Given the description of an element on the screen output the (x, y) to click on. 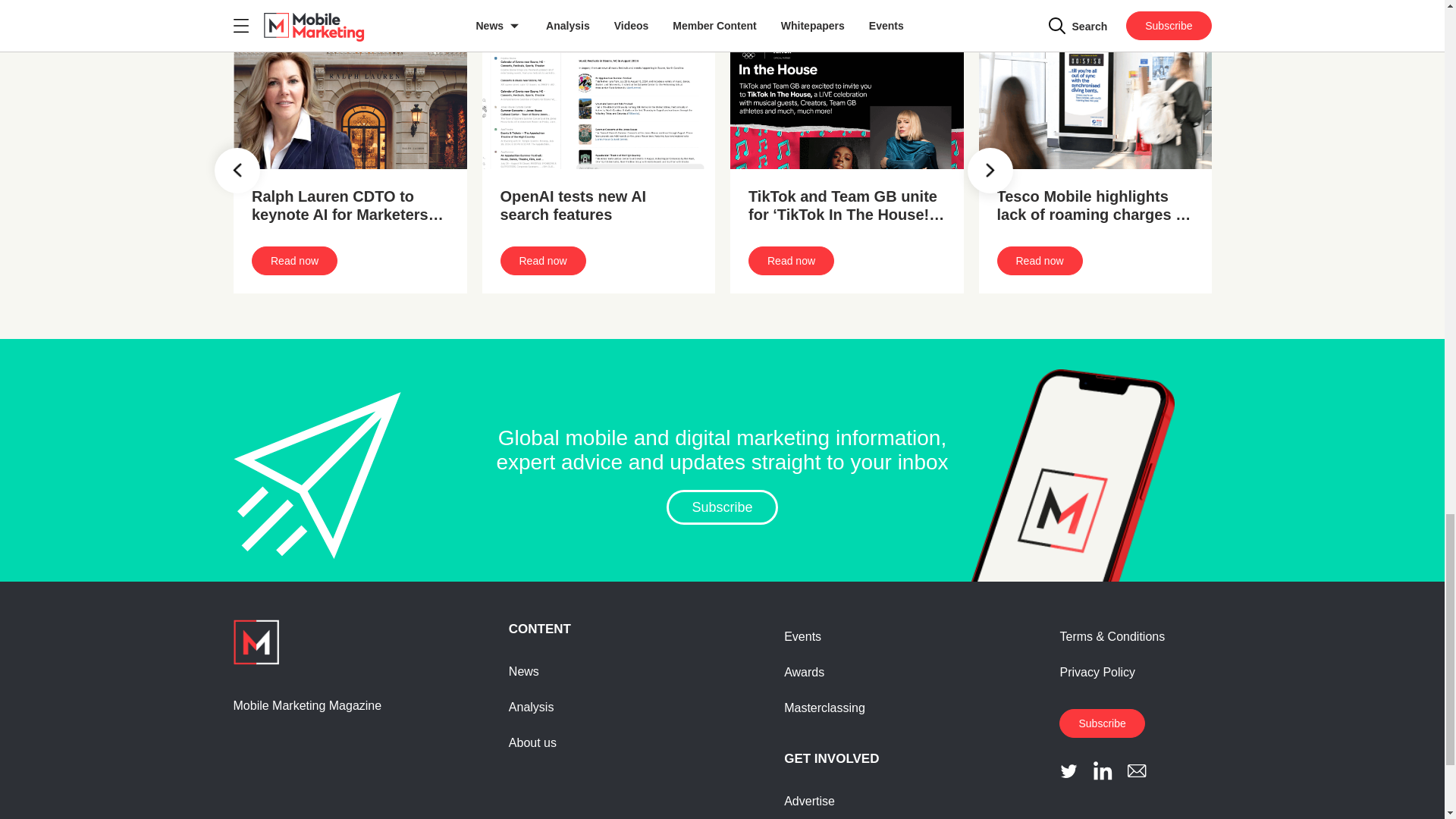
Twitter icon (1068, 770)
